Given the description of an element on the screen output the (x, y) to click on. 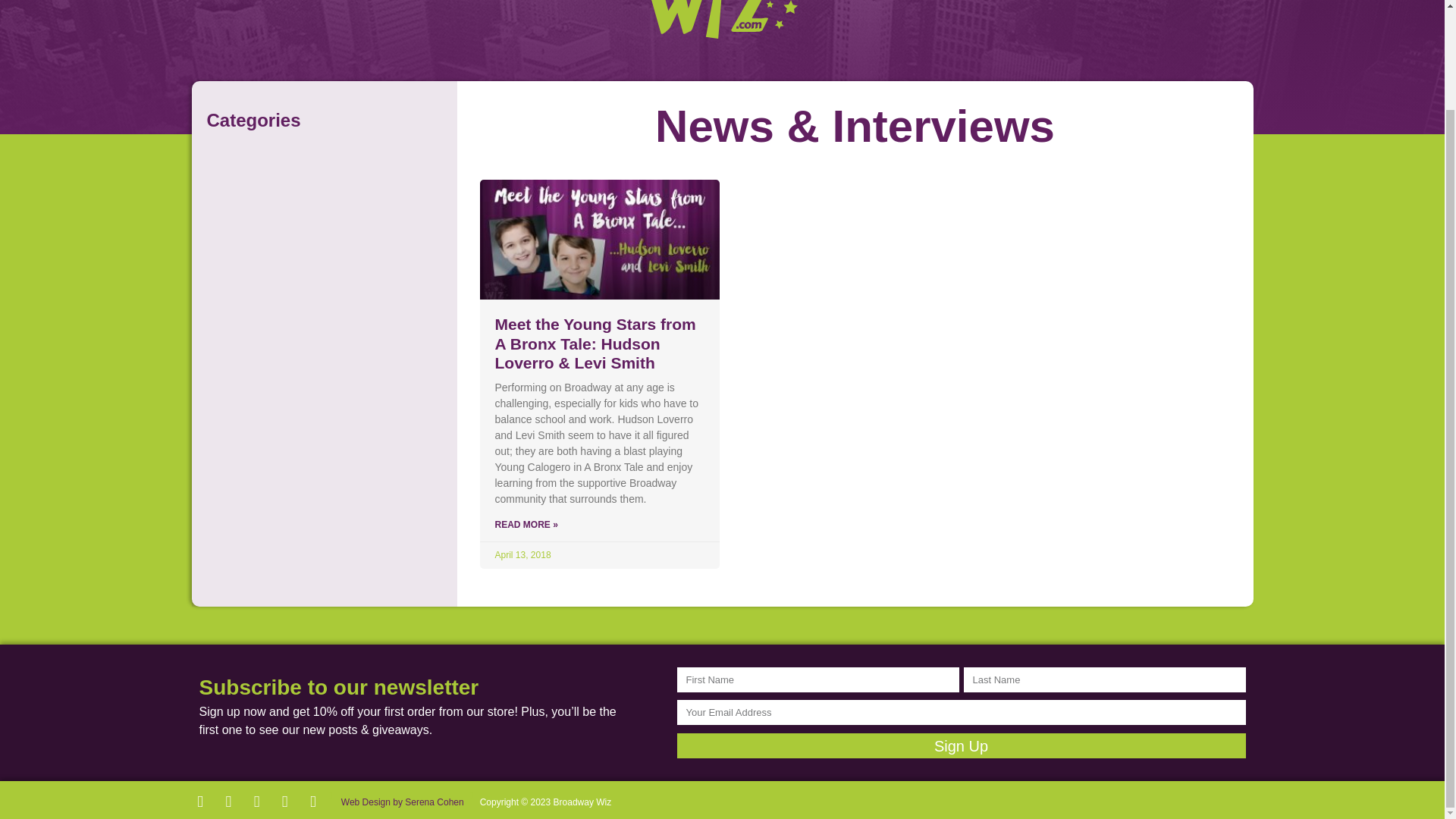
Sign Up (960, 745)
 Web Design by Serena Cohen (400, 794)
